Given the description of an element on the screen output the (x, y) to click on. 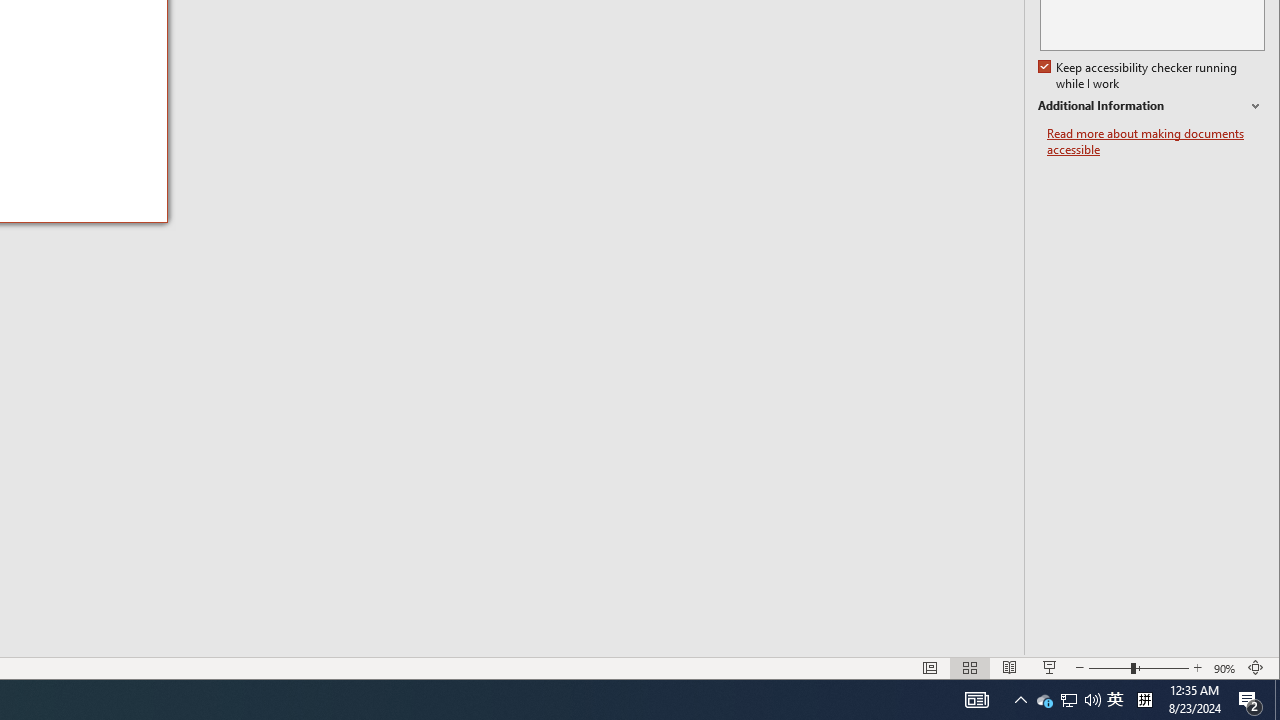
Q2790: 100% (1069, 699)
Read more about making documents accessible (1092, 699)
